Given the description of an element on the screen output the (x, y) to click on. 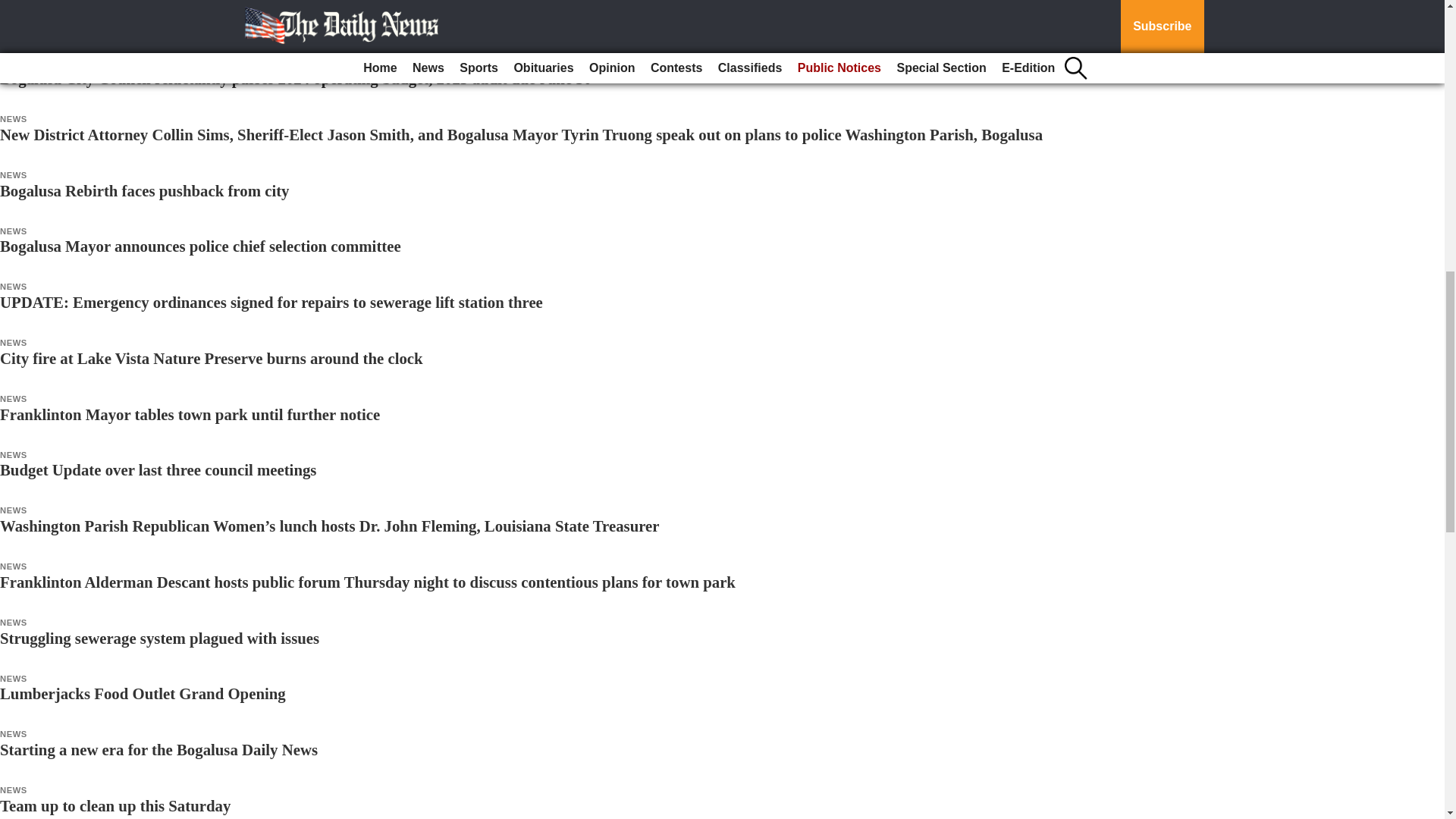
Lumberjacks Food Outlet Grand Opening (142, 692)
Starting a new era for the Bogalusa Daily News (158, 749)
Struggling sewerage system plagued with issues (159, 638)
Washington Parish Watermelon Festival this weekend (181, 22)
Bogalusa Rebirth faces pushback from city (144, 190)
Team up to clean up this Saturday (115, 805)
Washington Parish Watermelon Festival this weekend (181, 22)
